Given the description of an element on the screen output the (x, y) to click on. 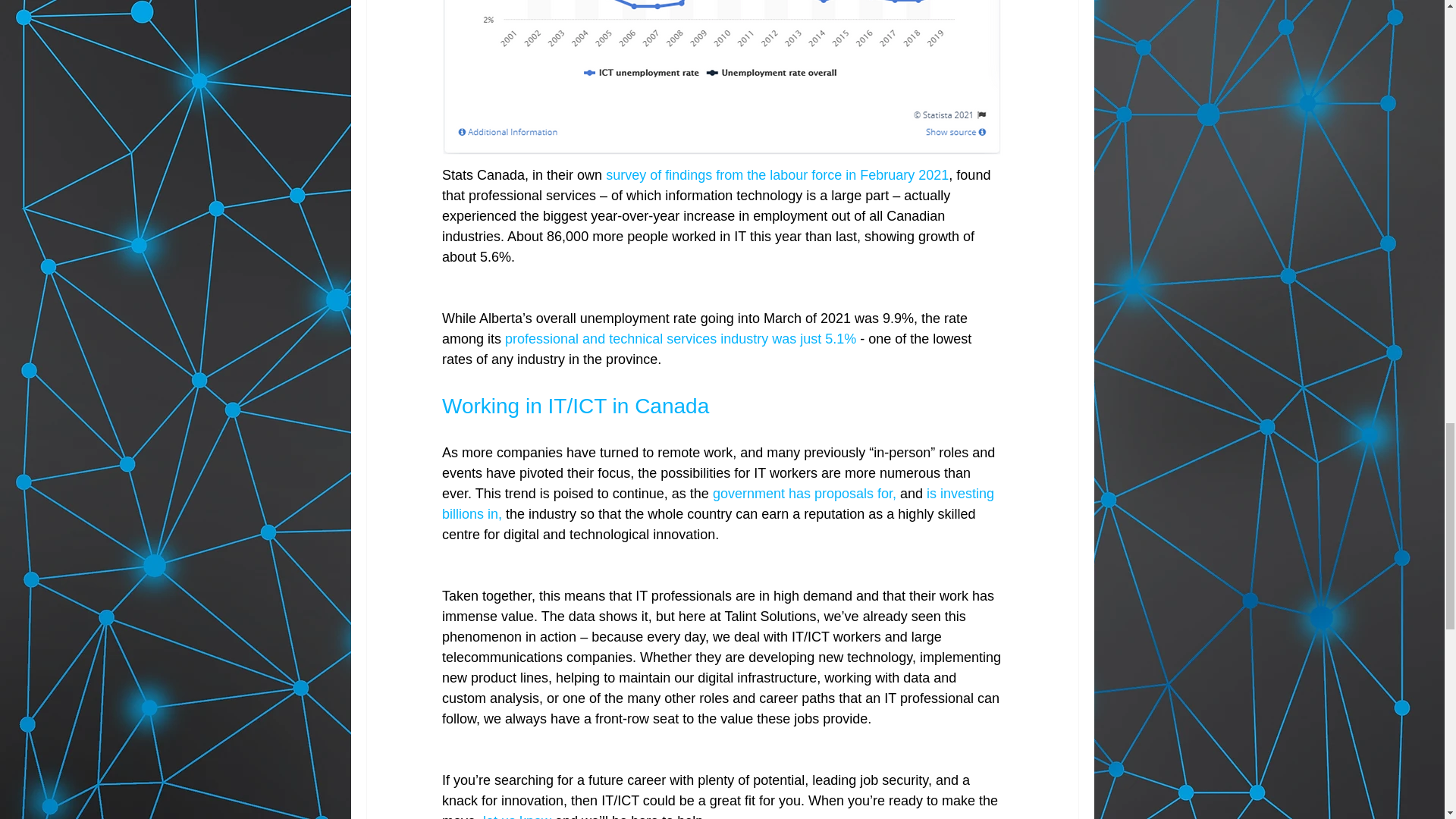
let us know (517, 816)
government has proposals for, (803, 493)
survey of findings from the labour force in February 2021 (777, 174)
is investing billions in, (719, 503)
